Given the description of an element on the screen output the (x, y) to click on. 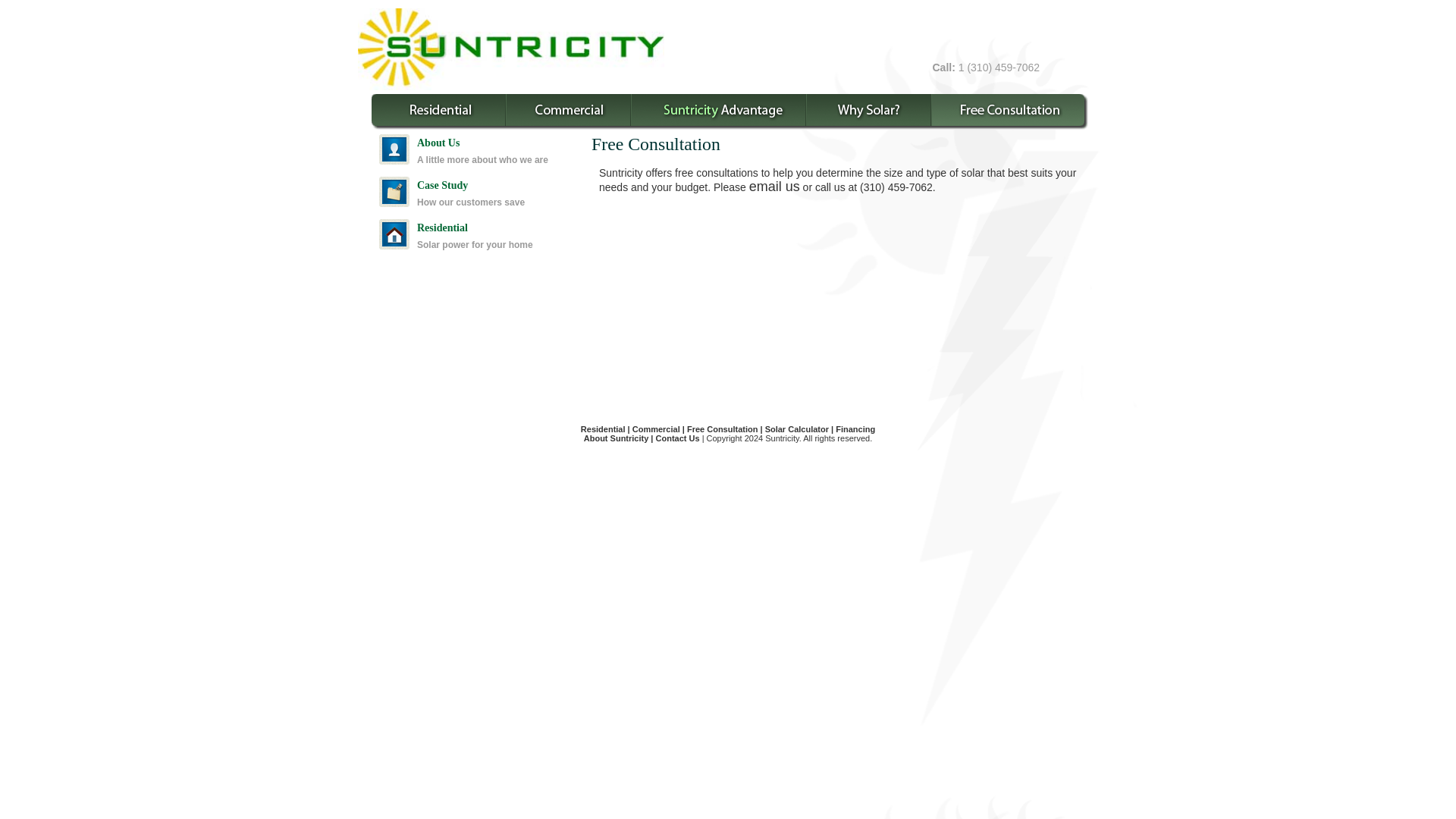
Free Consultation (722, 429)
About Us (438, 142)
Case Study (441, 184)
Commercial (655, 429)
Contact Us (678, 438)
Residential (441, 227)
Residential (603, 429)
email us (774, 186)
About Suntricity (616, 438)
